Given the description of an element on the screen output the (x, y) to click on. 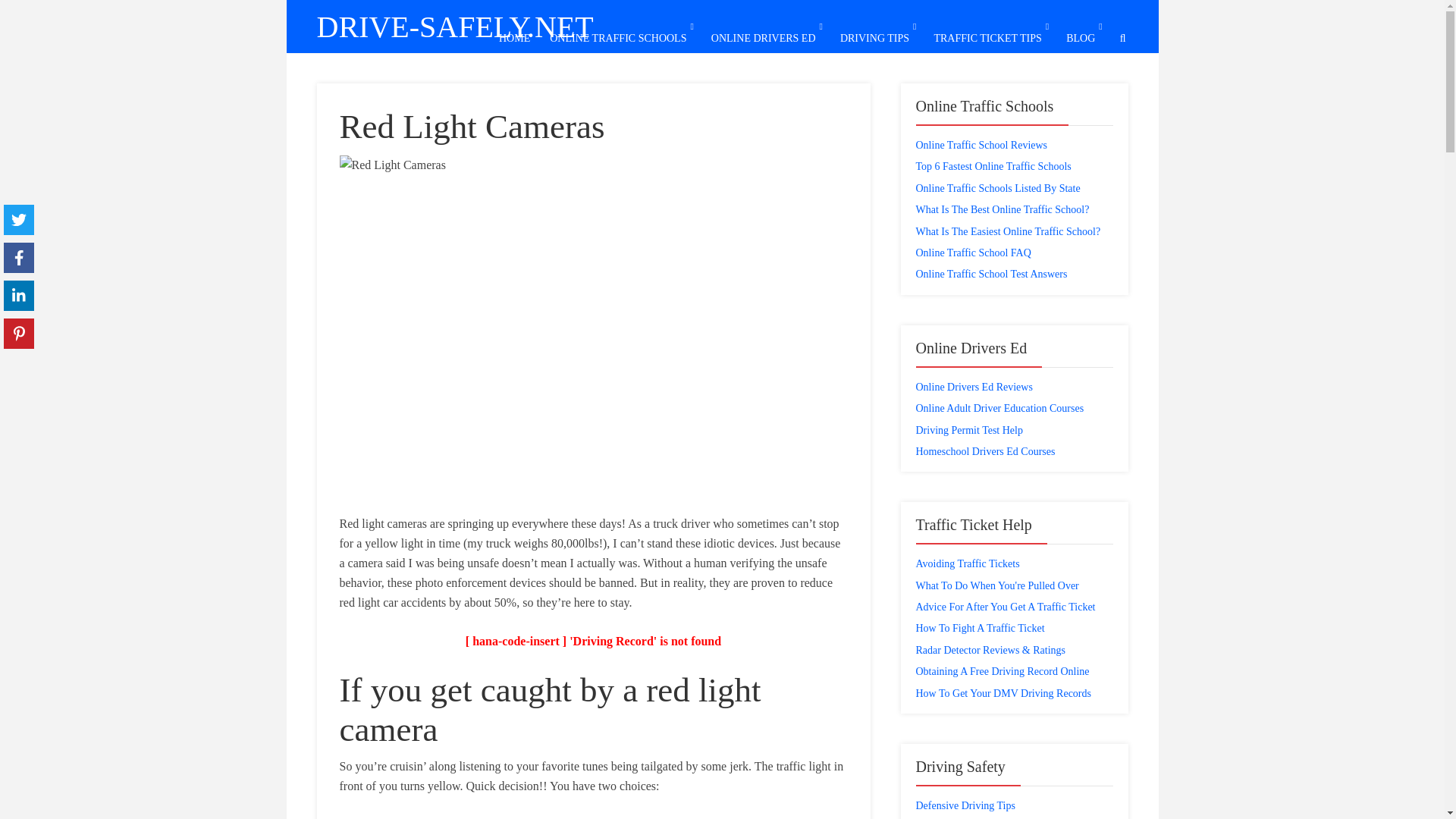
DRIVE-SAFELY.NET (455, 26)
being tailgated (646, 766)
DRIVING TIPS (874, 38)
Online Traffic Schools (617, 38)
Drive-Safely.net (455, 26)
ONLINE DRIVERS ED (763, 38)
ONLINE TRAFFIC SCHOOLS (617, 38)
Driving Tips (874, 38)
Online Drivers Ed (763, 38)
TRAFFIC TICKET TIPS (987, 38)
